Given the description of an element on the screen output the (x, y) to click on. 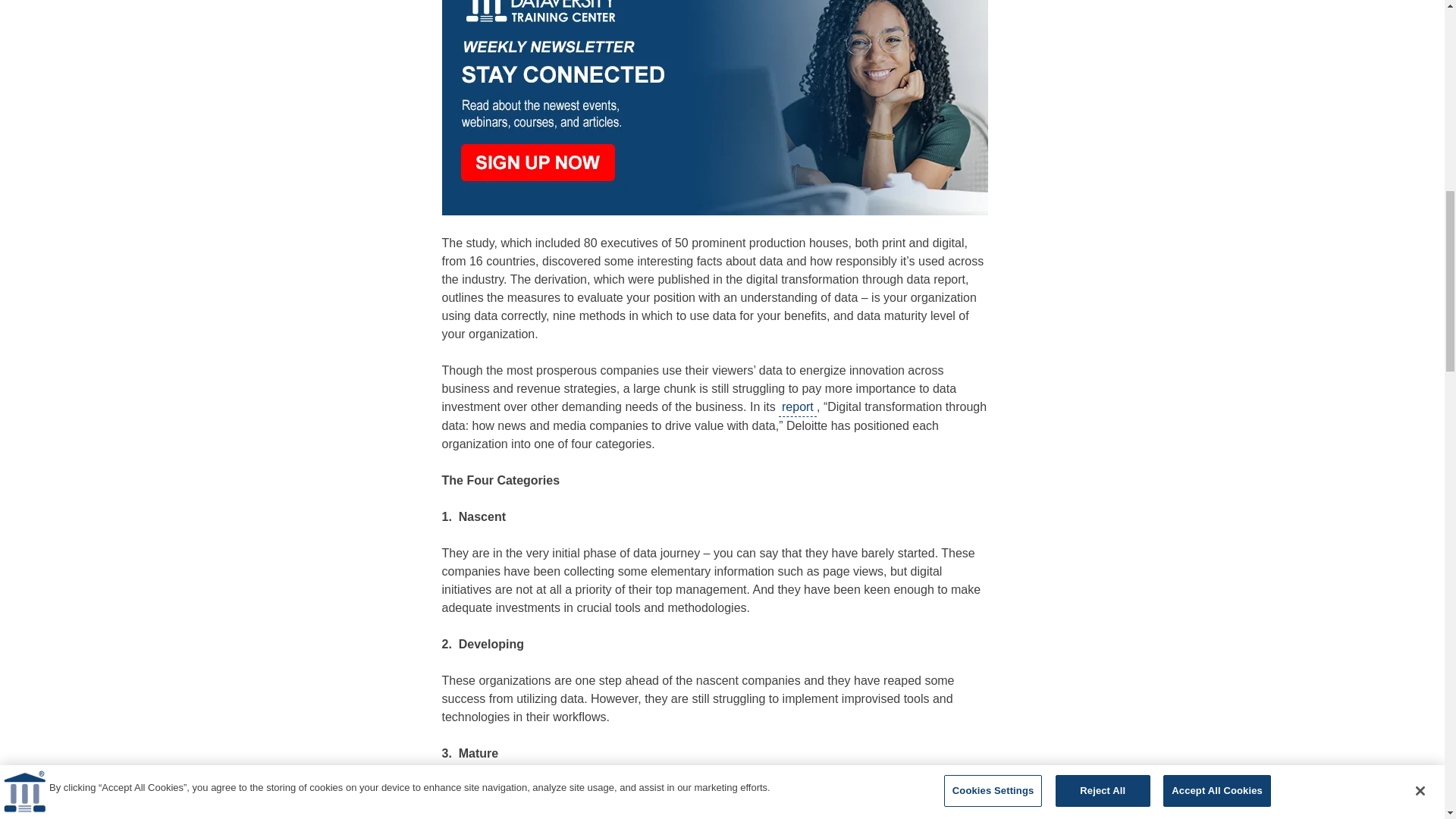
report (797, 407)
